Given the description of an element on the screen output the (x, y) to click on. 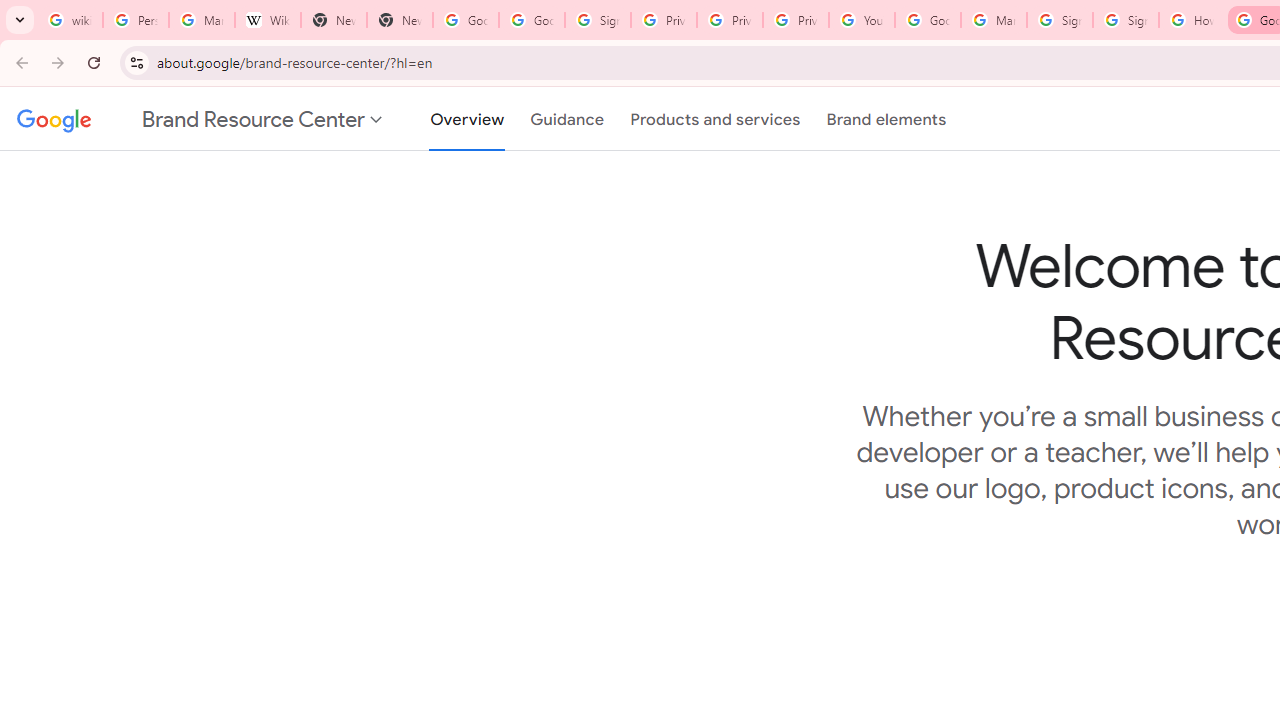
Google Drive: Sign-in (531, 20)
Google site switcher (200, 119)
Google Account Help (927, 20)
Sign in - Google Accounts (597, 20)
Wikipedia:Edit requests - Wikipedia (267, 20)
